Given the description of an element on the screen output the (x, y) to click on. 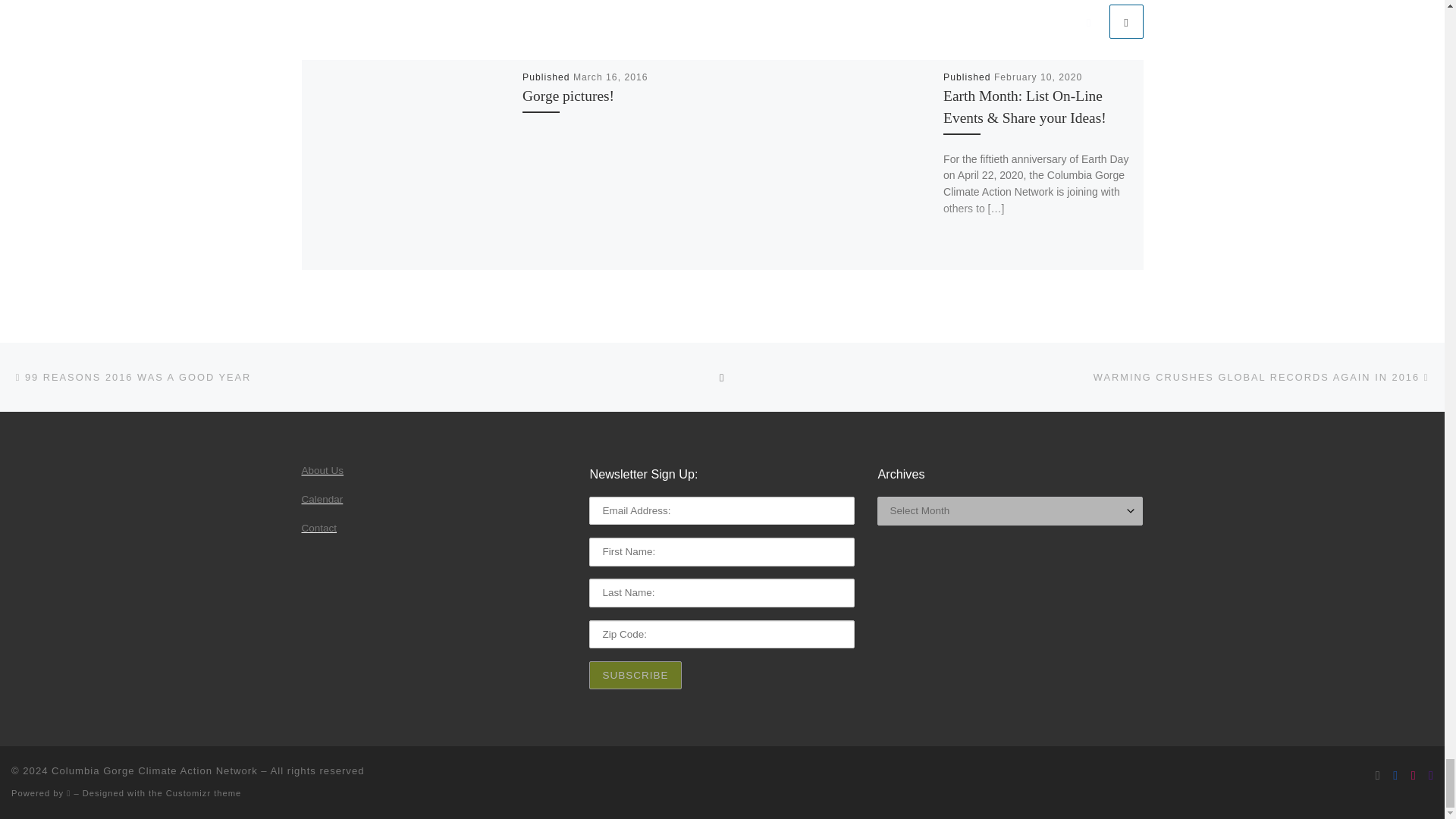
Columbia Gorge Climate Action Network (153, 770)
Previous related articles (1088, 20)
Customizr theme (203, 792)
Next related articles (1125, 20)
Subscribe (635, 674)
